Given the description of an element on the screen output the (x, y) to click on. 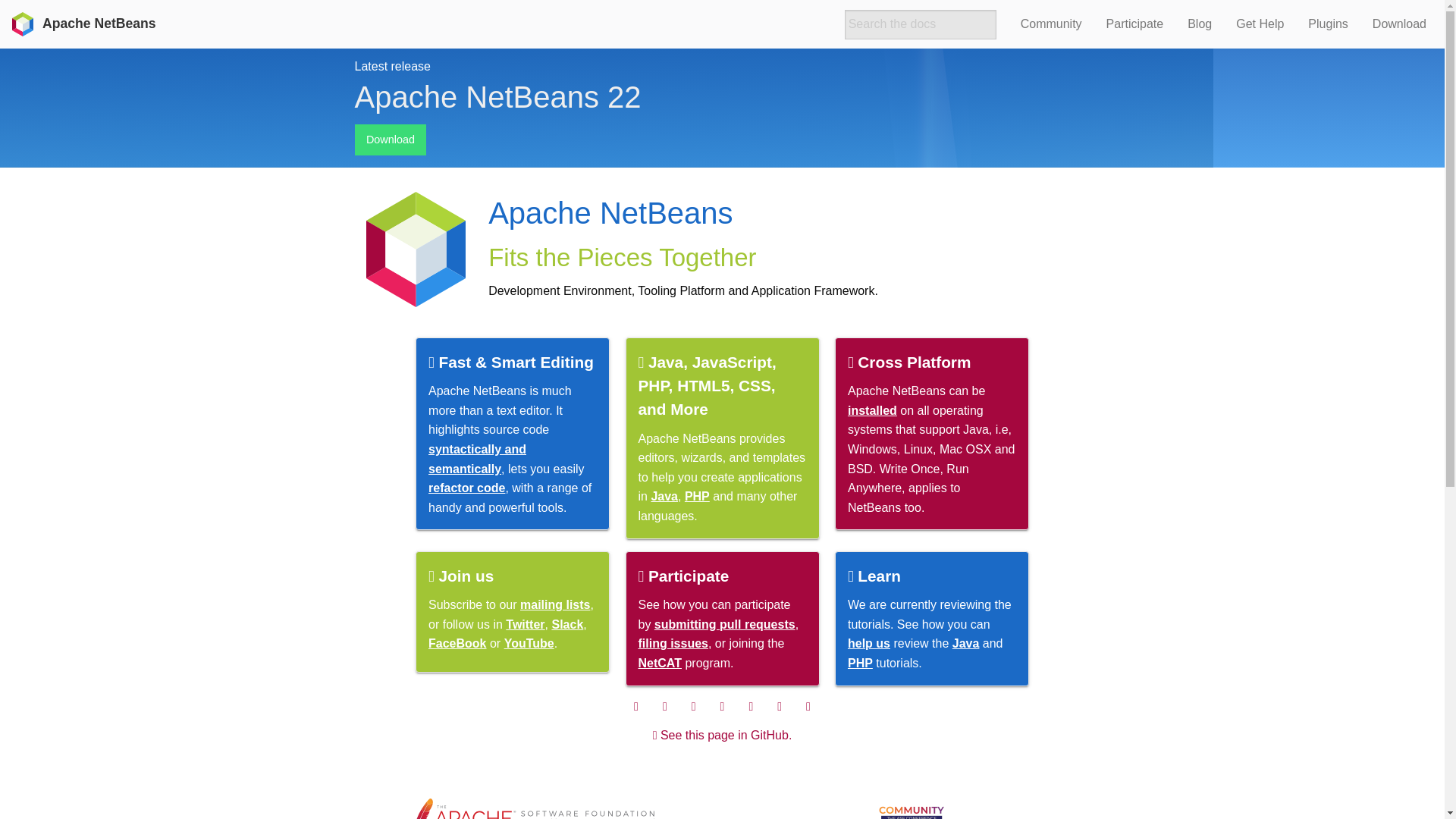
installed (871, 410)
Facebook (635, 706)
Twitter (664, 706)
Issues (807, 706)
filing issues (673, 643)
Java (965, 643)
See this page in github (722, 735)
help us (868, 643)
FaceBook (457, 643)
Get Help (1259, 23)
